Given the description of an element on the screen output the (x, y) to click on. 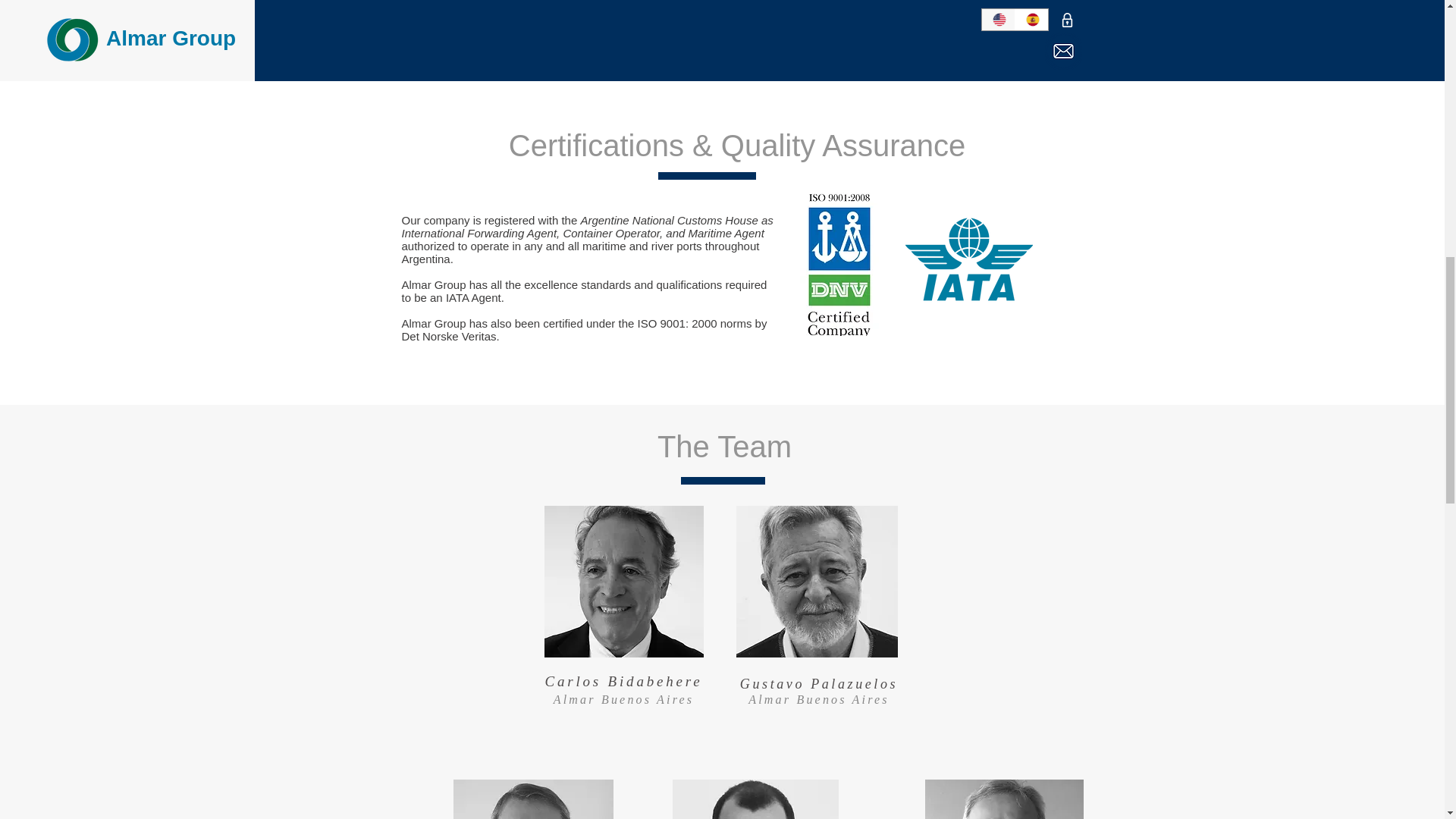
Gustavo-Palazuelos-Almar-Vicepresident-1.jpg (815, 581)
Carlos-Bidabehere.JPG (623, 581)
IATA-logo.png (968, 258)
Juan-Andres-Arloro-Almar-Rosario.jpg (532, 799)
Alejandro-Noacco-Almar-Rosario.jpg (754, 799)
Osvaldo-Almar-Puerto-Deseado.jpg (1003, 799)
